Given the description of an element on the screen output the (x, y) to click on. 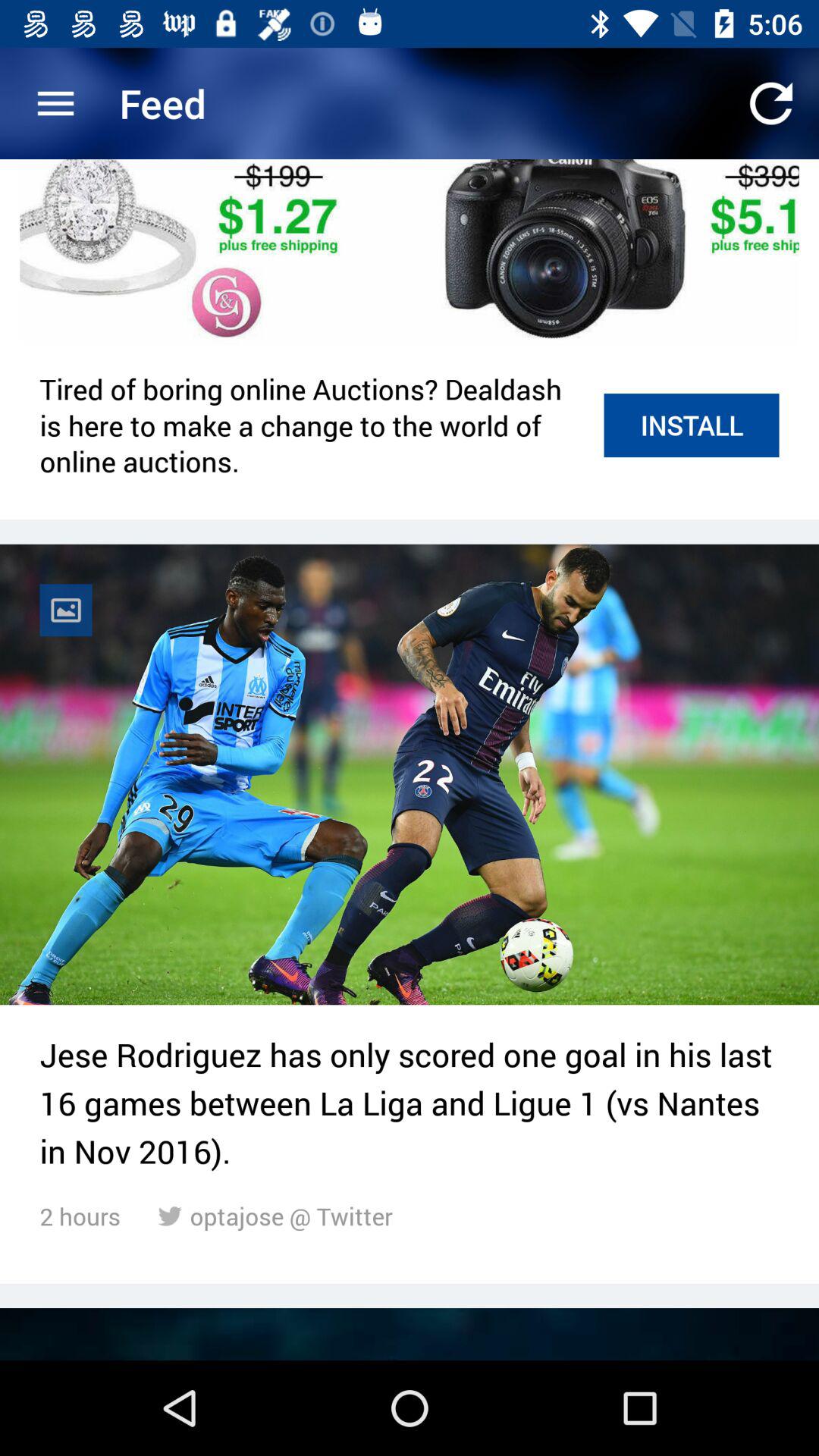
select icon next to the tired of boring icon (691, 425)
